Given the description of an element on the screen output the (x, y) to click on. 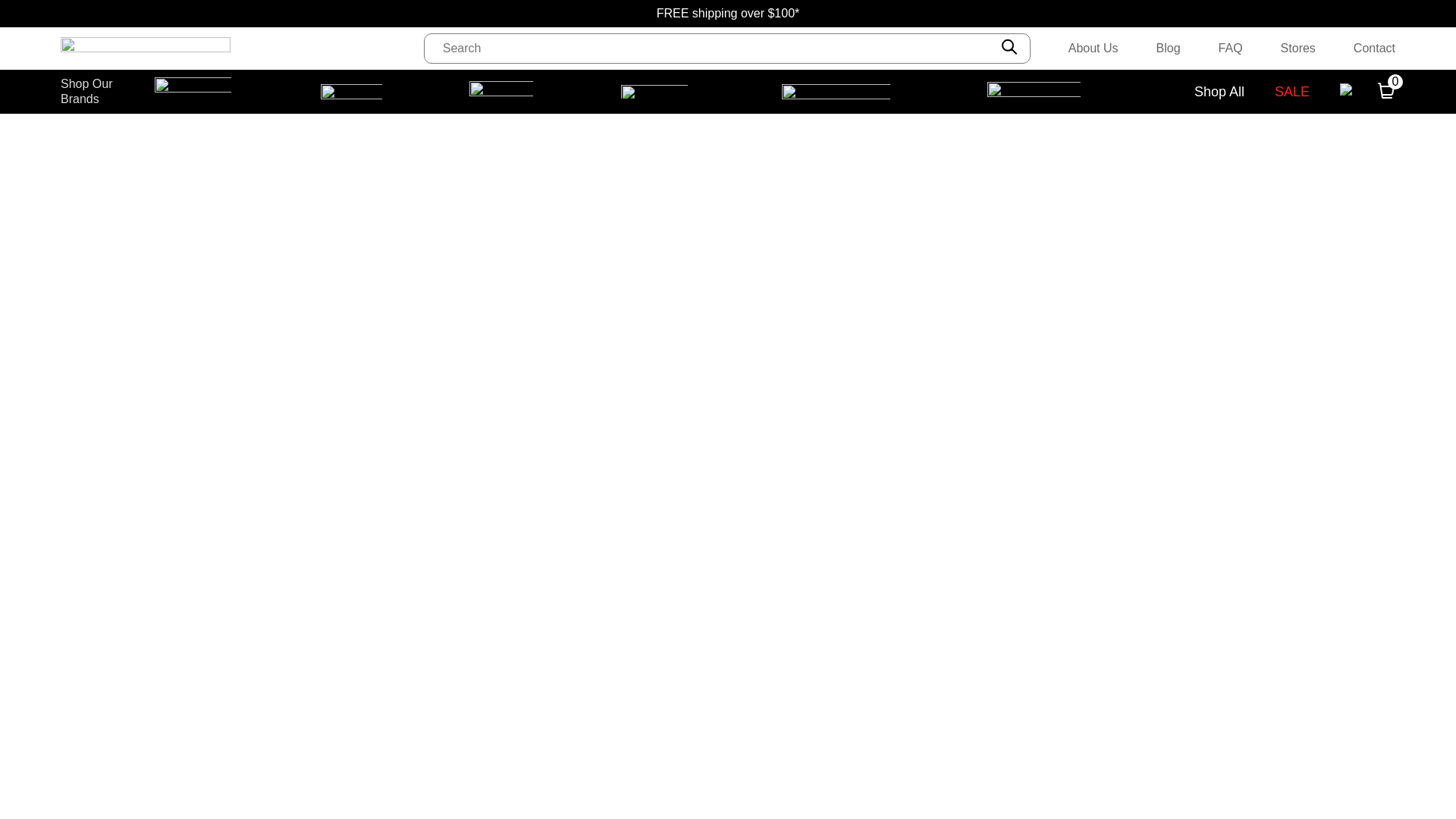
Stores (1298, 48)
Contact (1374, 48)
Shop All (1218, 92)
SALE (1291, 92)
About Us (1093, 48)
0 (1385, 91)
